Given the description of an element on the screen output the (x, y) to click on. 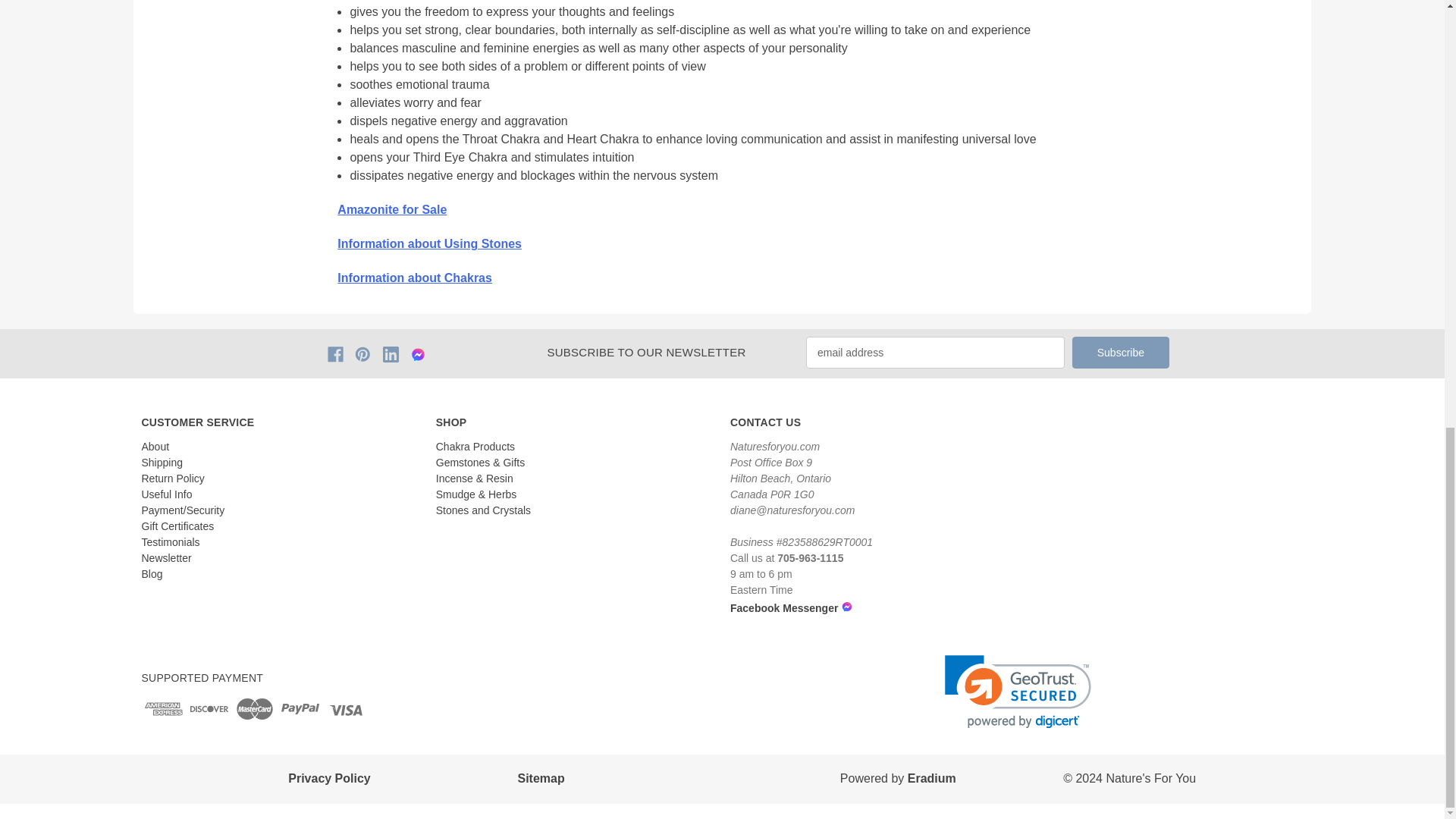
Facebook (335, 354)
Subscribe (1120, 352)
Linkedin (390, 354)
Pinterest (363, 354)
Facebook Messenger (736, 606)
